Given the description of an element on the screen output the (x, y) to click on. 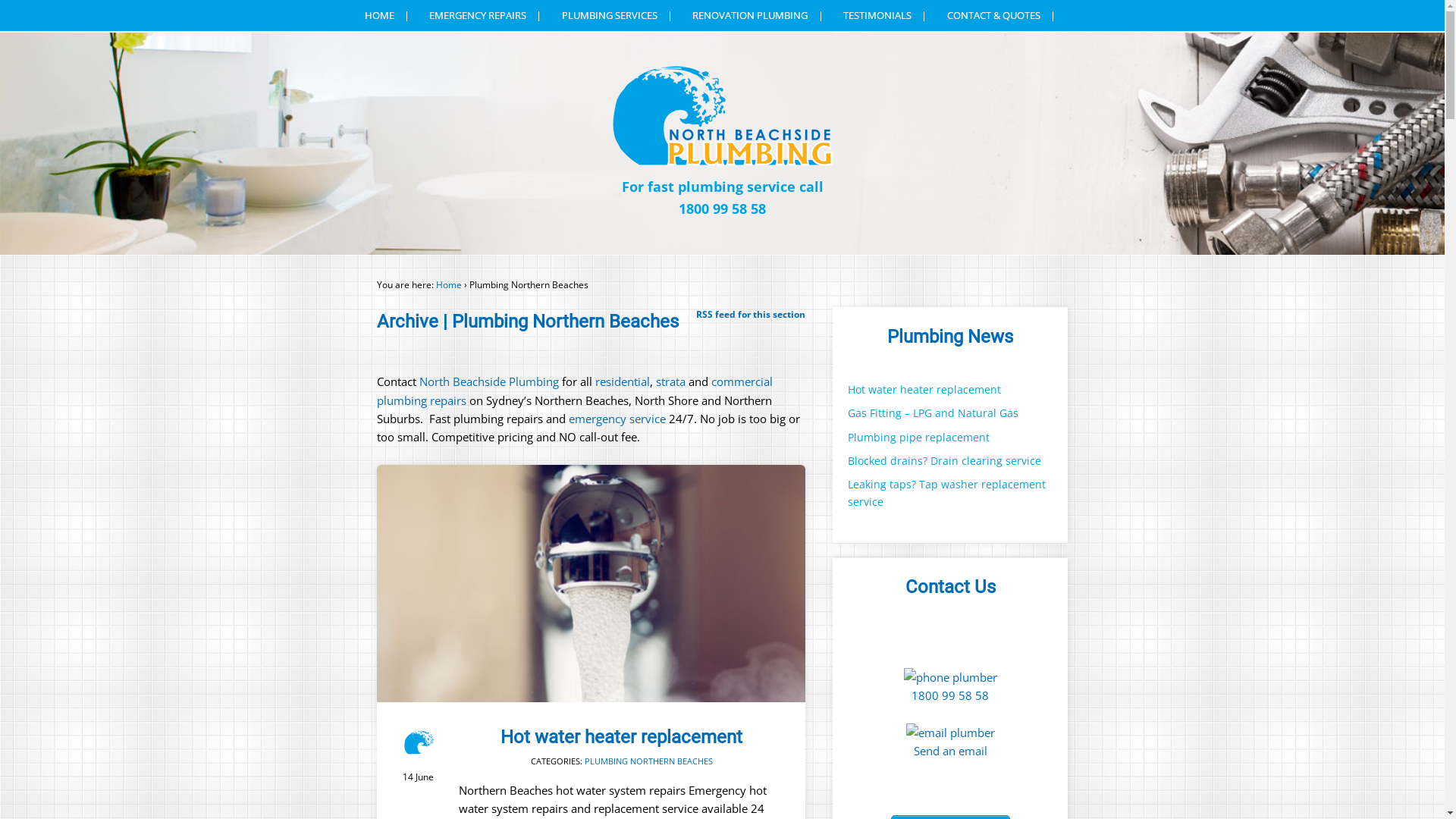
residential Element type: text (622, 381)
Leaking taps? Tap washer replacement service Element type: text (946, 492)
commercial plumbing repairs Element type: text (574, 390)
Hot water heater replacement Element type: text (621, 736)
emergency service Element type: text (615, 418)
CONTACT & QUOTES Element type: text (1000, 15)
HOME Element type: text (387, 15)
PLUMBING SERVICES Element type: text (617, 15)
North Beachside Plumbing Element type: text (488, 381)
PLUMBING NORTHERN BEACHES Element type: text (648, 760)
Hot water heater replacement Element type: hover (590, 583)
Plumbing pipe replacement Element type: text (918, 436)
For fast plumbing service call 1800 99 58 58 Element type: text (721, 197)
Hot water heater replacement Element type: text (924, 389)
strata Element type: text (670, 381)
Home Element type: text (448, 284)
RSS feed for this section Element type: text (750, 313)
1800 99 58 58 Element type: text (949, 694)
RENOVATION PLUMBING Element type: text (757, 15)
Plumbers Northern Beaches and Gas Fitters North Shore Element type: hover (721, 159)
EMERGENCY REPAIRS Element type: text (485, 15)
Blocked drains? Drain clearing service Element type: text (944, 460)
Send an email Element type: text (950, 750)
TESTIMONIALS Element type: text (885, 15)
